Given the description of an element on the screen output the (x, y) to click on. 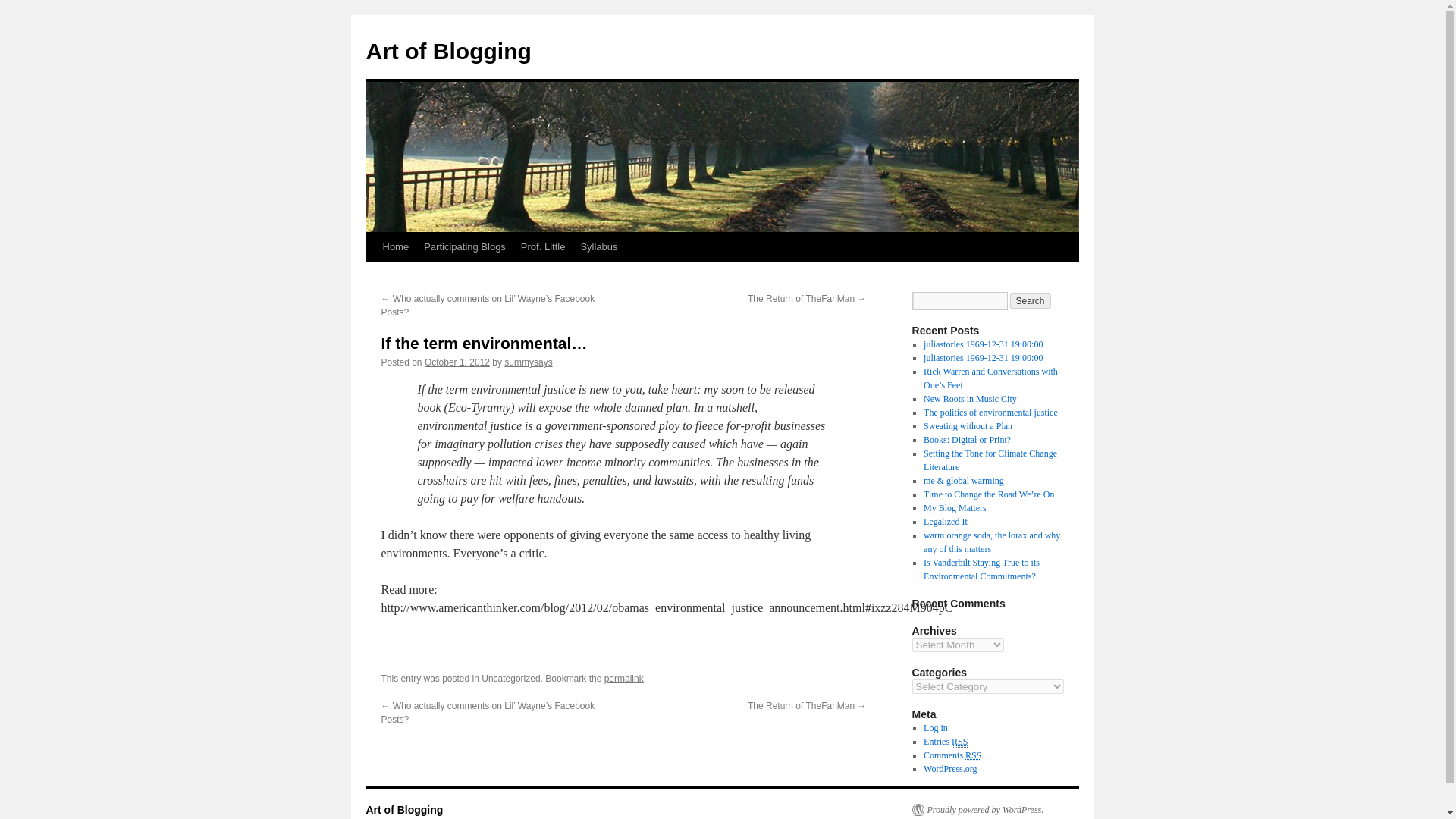
Books: Digital or Print? (966, 439)
New Roots in Music City (969, 398)
12:28 pm (457, 362)
Sweating without a Plan (967, 425)
Entries RSS (945, 741)
juliastories 1969-12-31 19:00:00 (982, 344)
The politics of environmental justice (990, 412)
Is Vanderbilt Staying True to its Environmental Commitments? (981, 569)
permalink (623, 678)
Really Simple Syndication (960, 741)
